Given the description of an element on the screen output the (x, y) to click on. 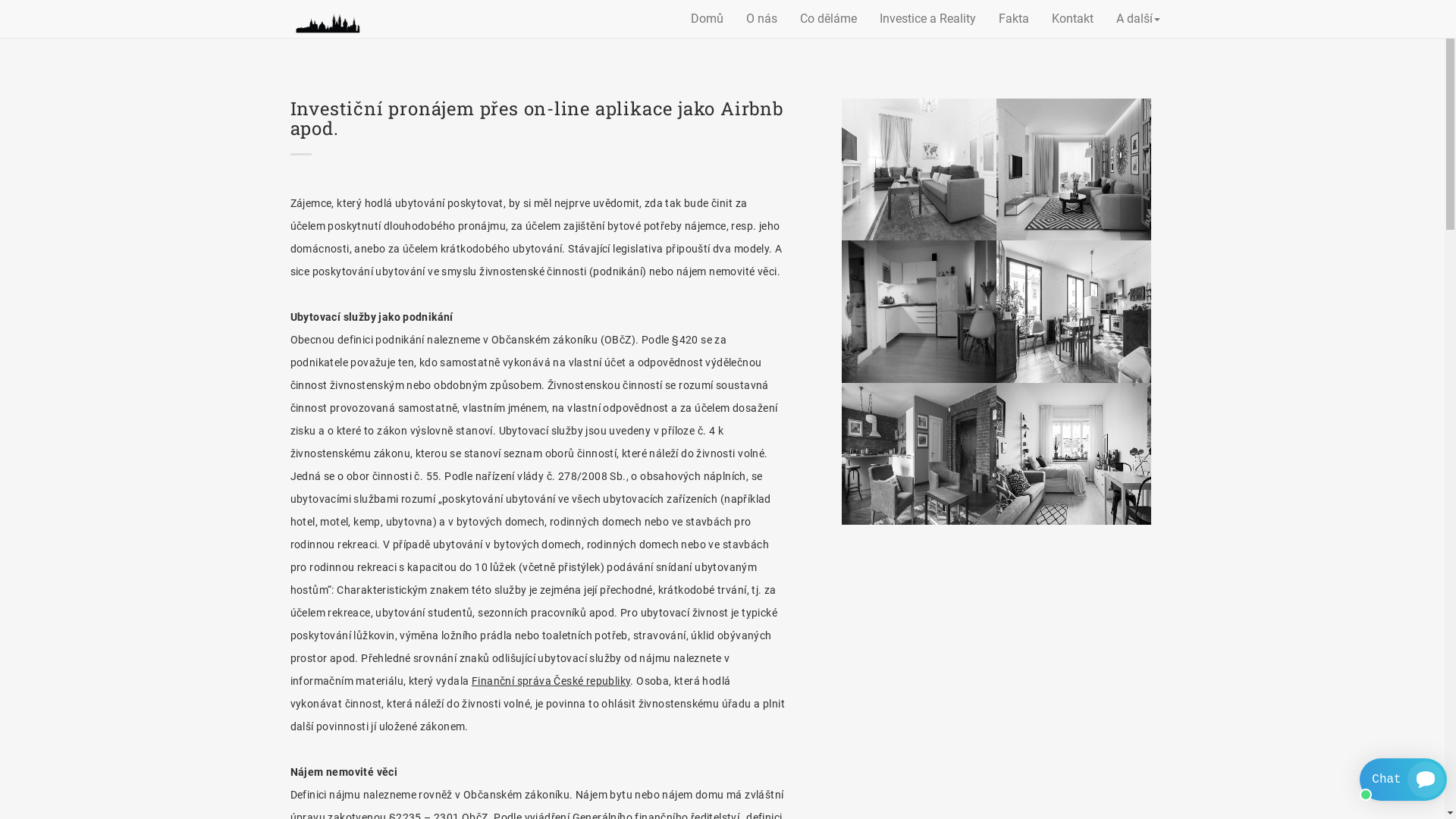
Kontakt Element type: text (1072, 18)
Smartsupp widget button Element type: hover (1402, 779)
Fakta Element type: text (1013, 18)
Investice a Reality Element type: text (927, 18)
